Given the description of an element on the screen output the (x, y) to click on. 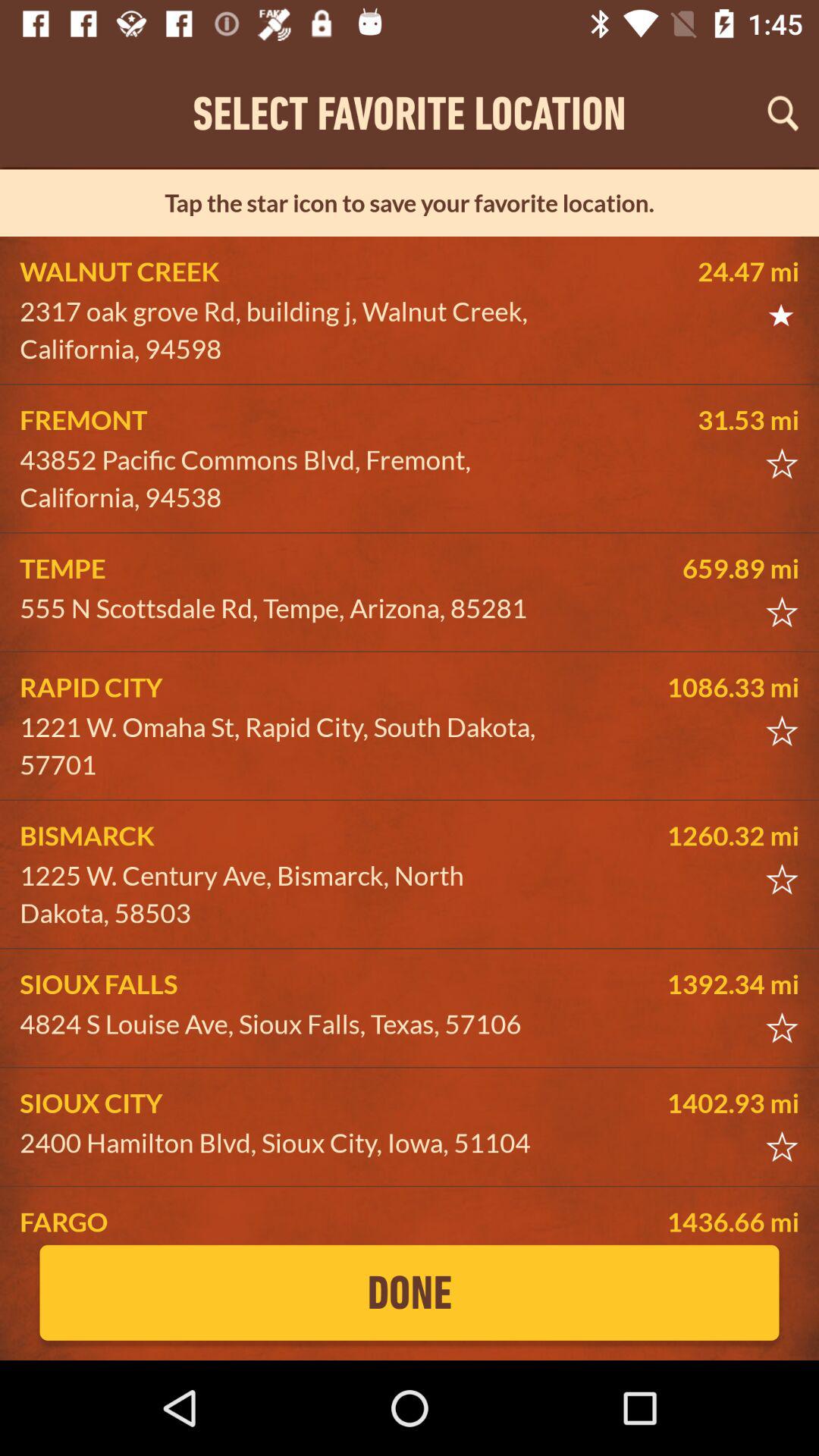
press the icon below the tempe icon (285, 608)
